Given the description of an element on the screen output the (x, y) to click on. 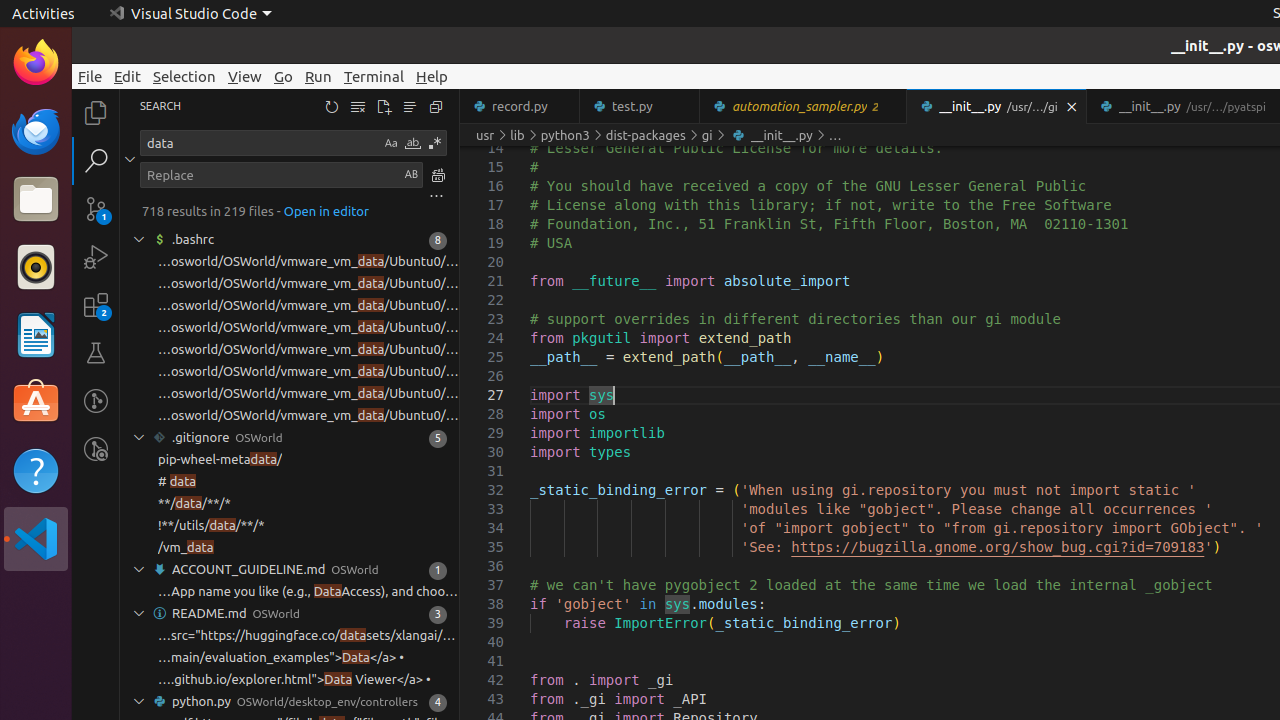
'2. For App information, type in any App name you like (e.g., DataAccess), and choose the current Google gmail into field `User support email`.' at column 62 found Data Element type: tree-item (289, 591)
/vm_data Element type: link (186, 547)
Replace All (Ctrl+Alt+Enter) Element type: push-button (438, 174)
test.py Element type: page-tab (640, 106)
